Given the description of an element on the screen output the (x, y) to click on. 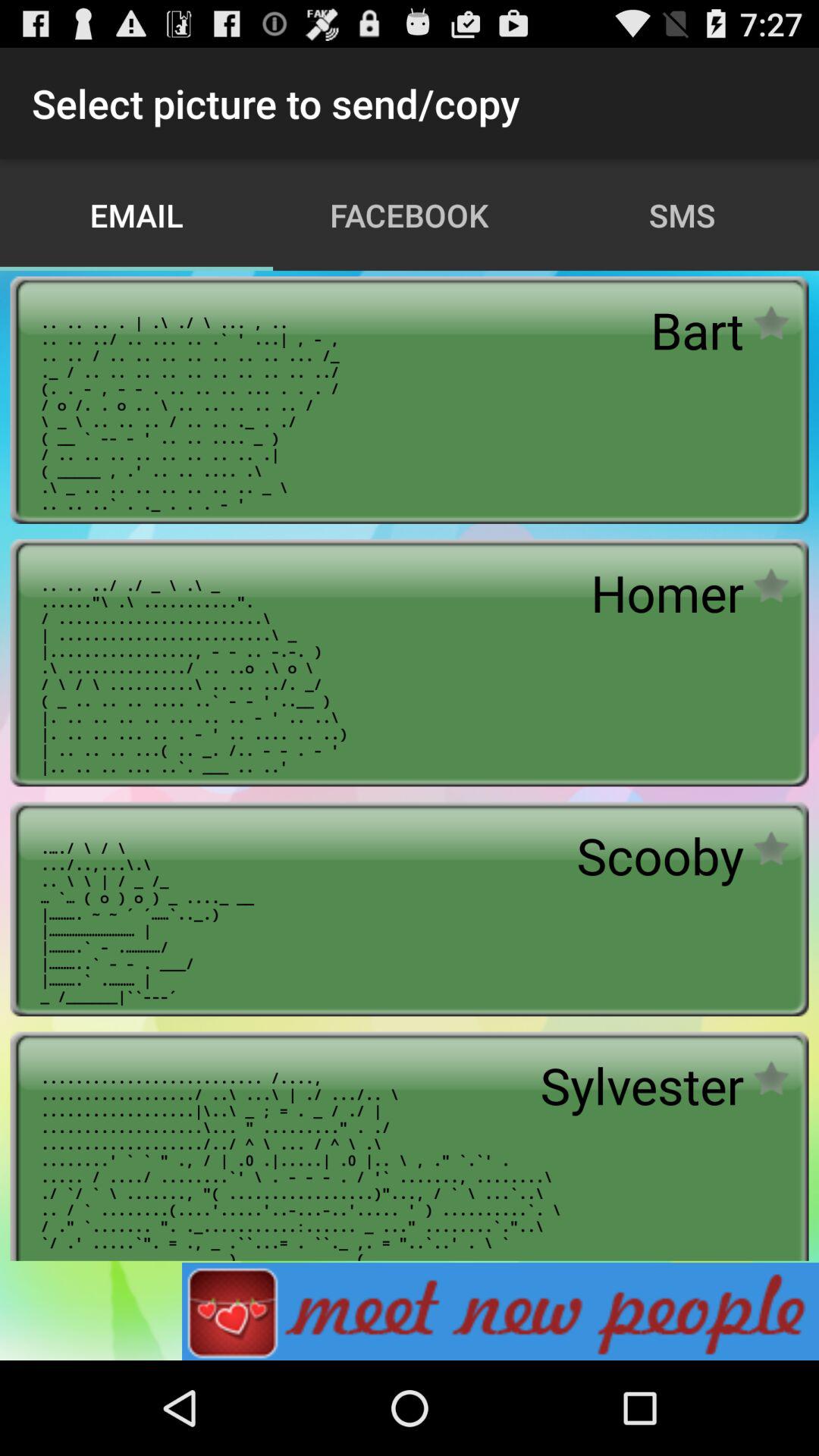
launch the app above _ _ 0 (659, 855)
